Given the description of an element on the screen output the (x, y) to click on. 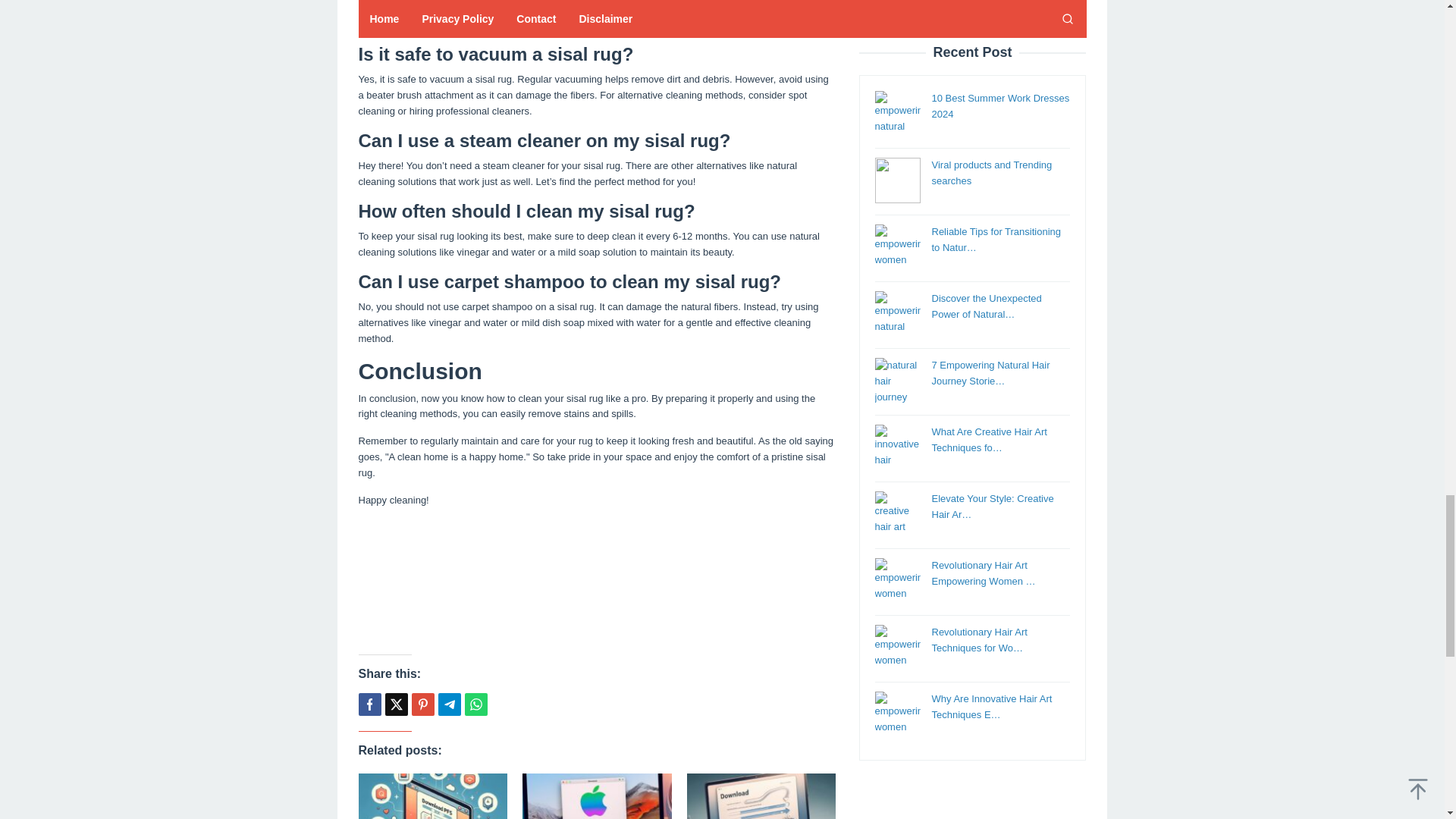
Whatsapp (475, 703)
Telegram Share (449, 703)
Pin this (421, 703)
Permalink to: How To Download Pdf On Mac (432, 796)
Share this (369, 703)
Tweet this (396, 703)
Advertisement (596, 579)
